Given the description of an element on the screen output the (x, y) to click on. 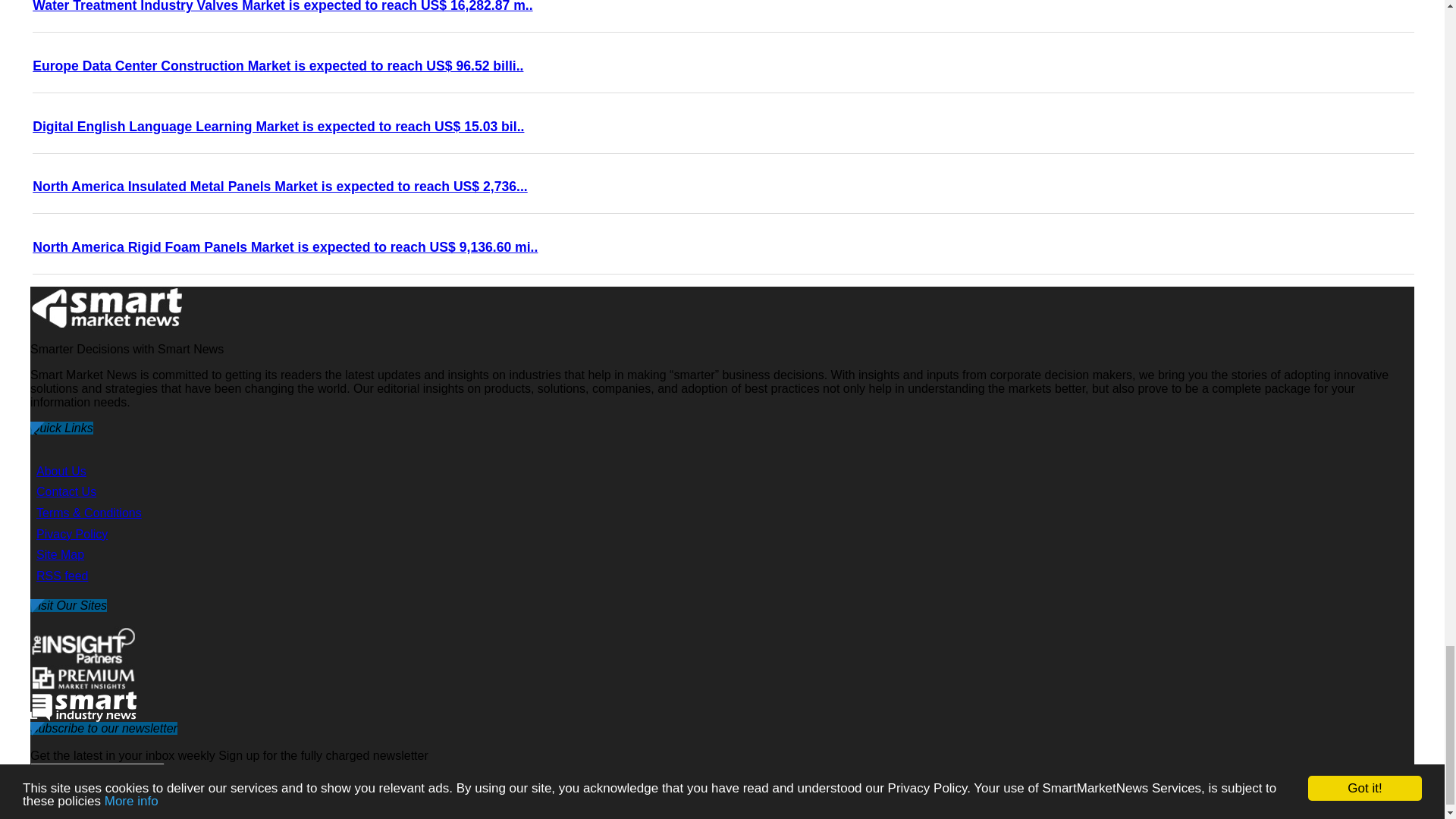
Sign Up (487, 803)
on (38, 801)
